Given the description of an element on the screen output the (x, y) to click on. 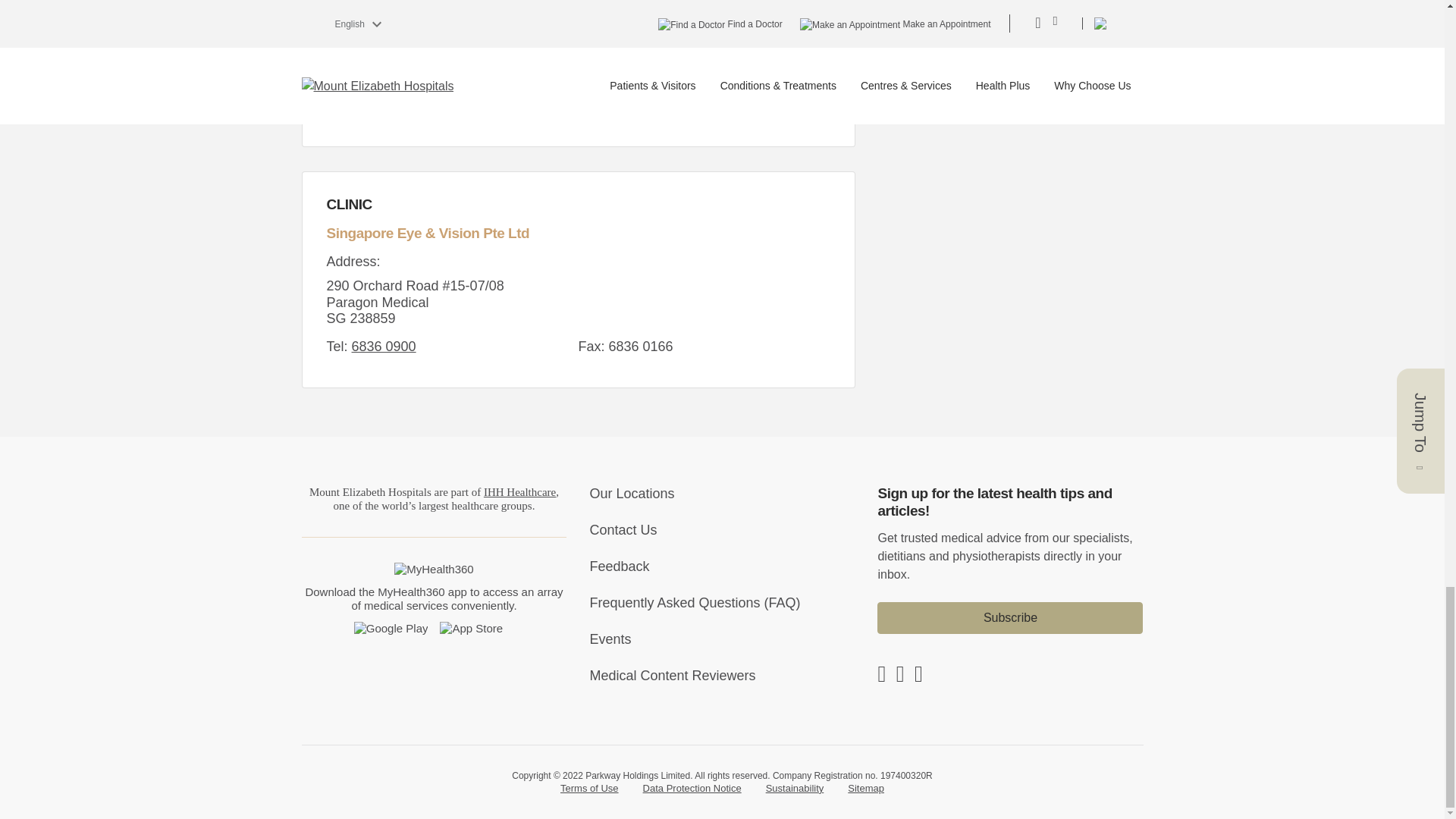
24-hour helpline: (371, 30)
Email: (403, 87)
Clinic Telephone Number (384, 346)
